Given the description of an element on the screen output the (x, y) to click on. 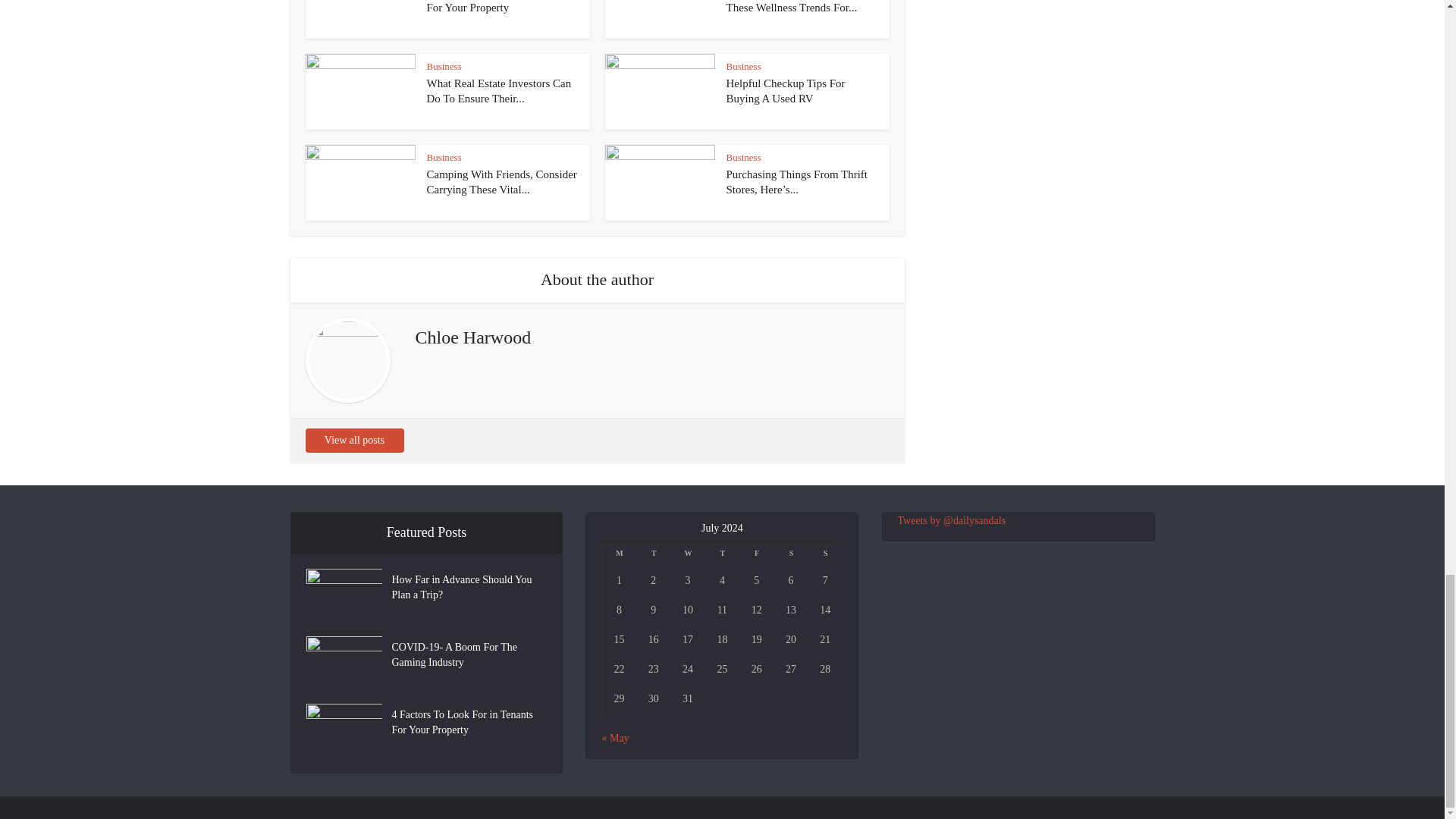
Change Your Lifestyle With These Wellness Trends For... (791, 6)
Camping With Friends, Consider Carrying These Vital... (501, 181)
What Real Estate Investors Can Do To Ensure Their... (498, 90)
Business (443, 66)
4 Factors To Look For in Tenants For Your Property (502, 6)
Helpful Checkup Tips For Buying A Used RV (785, 90)
4 Factors To Look For in Tenants For Your Property (502, 6)
Business (443, 156)
Business (743, 156)
Helpful Checkup Tips For Buying A Used RV (785, 90)
Business (743, 66)
